Given the description of an element on the screen output the (x, y) to click on. 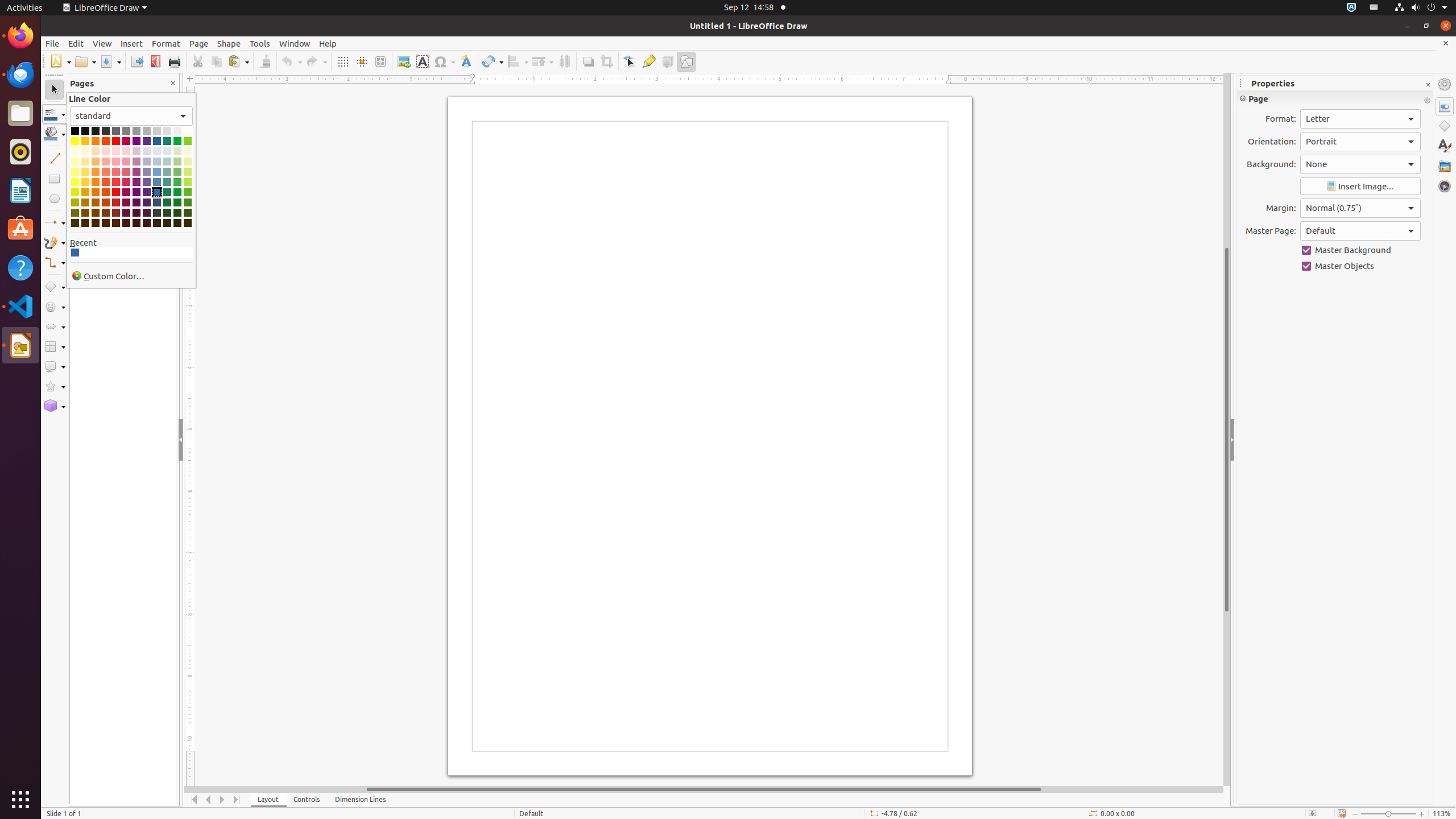
Copy Element type: push-button (216, 61)
Dark Gray 3 Element type: list-item (95, 130)
3D Objects Element type: push-button (54, 406)
Dark Orange 1 Element type: list-item (95, 192)
Shape Element type: menu (228, 43)
